Given the description of an element on the screen output the (x, y) to click on. 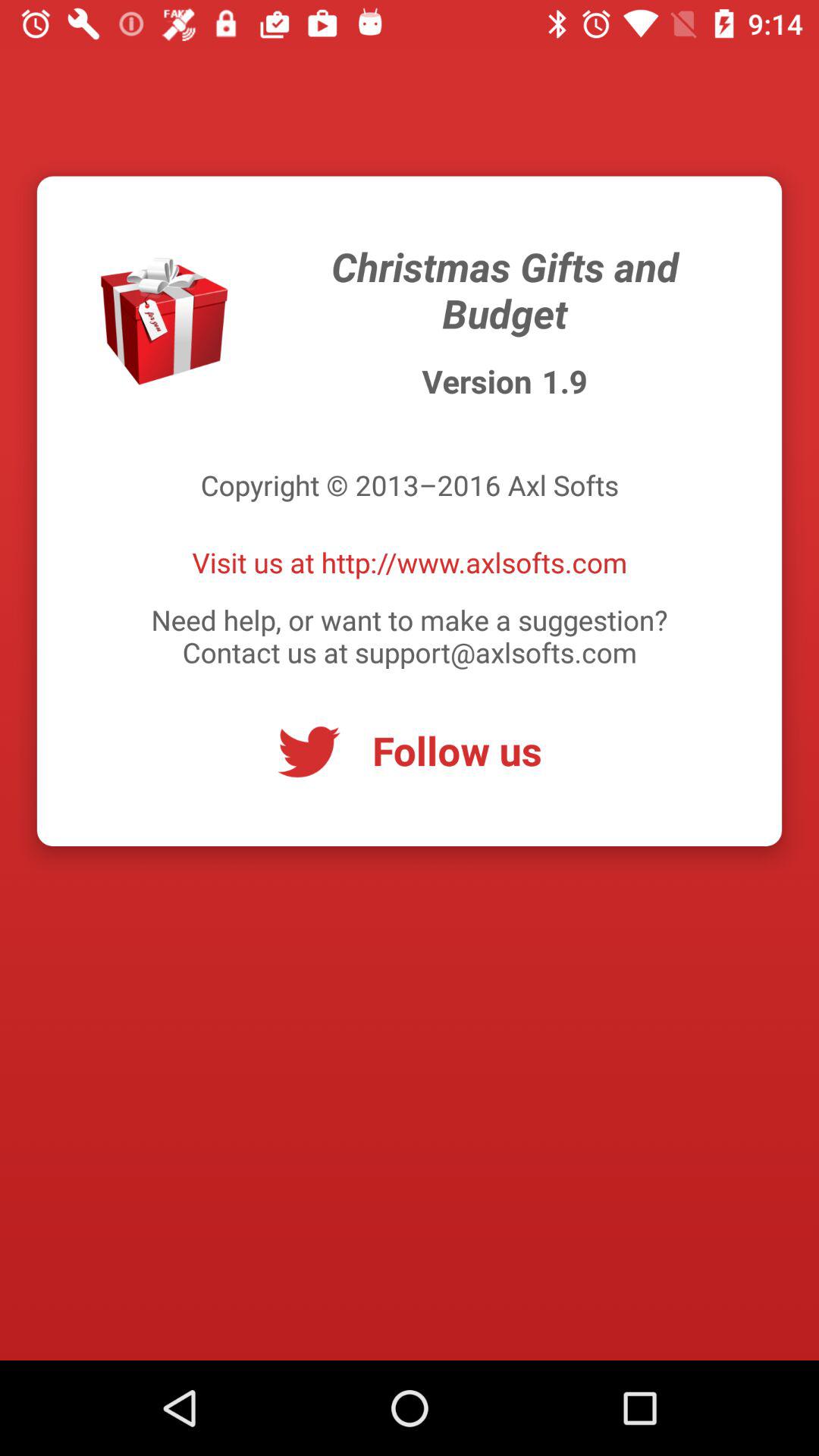
flip to need help or (409, 636)
